Given the description of an element on the screen output the (x, y) to click on. 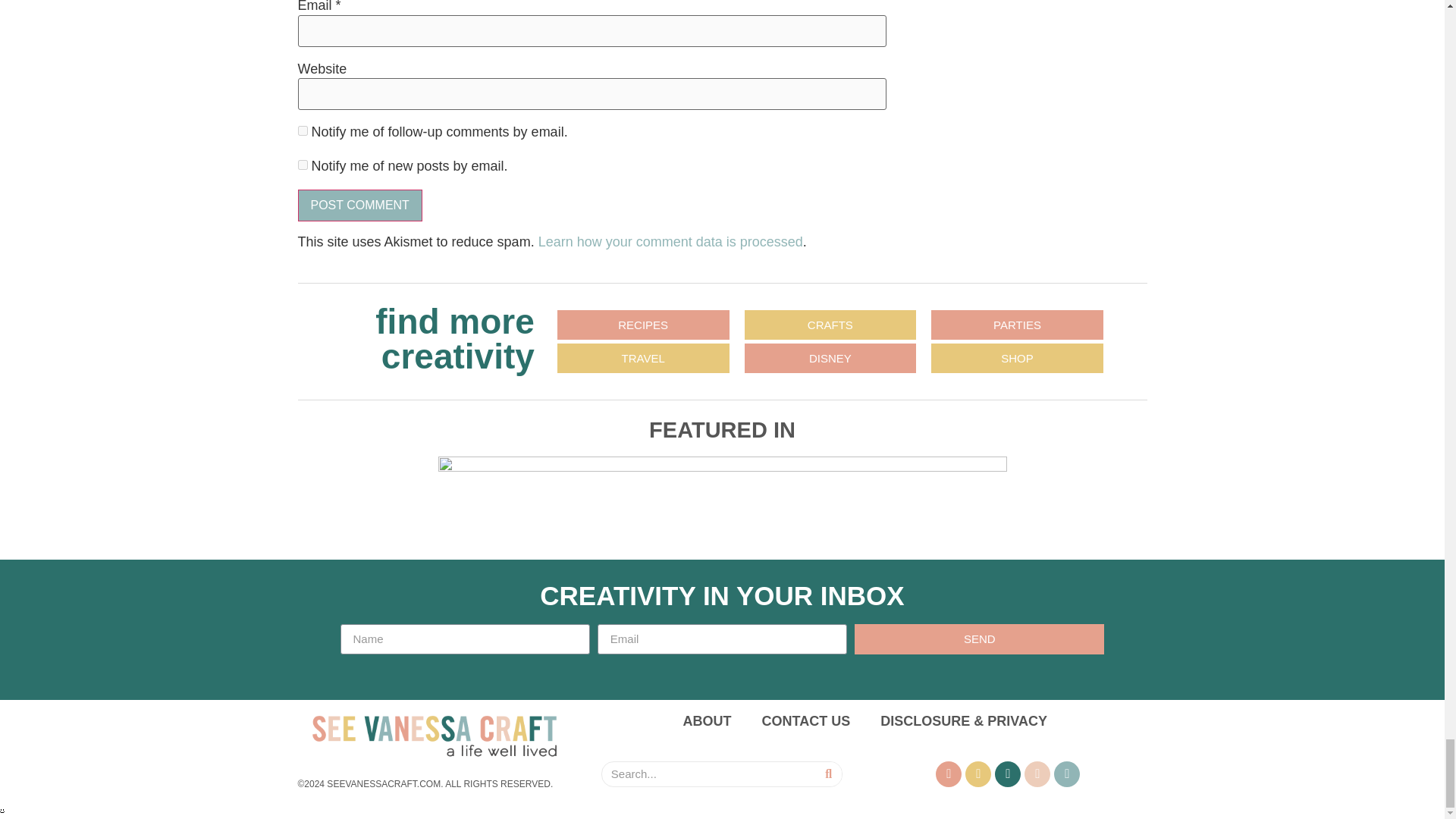
Search (828, 774)
Post Comment (359, 205)
subscribe (302, 130)
subscribe (302, 164)
Search (708, 774)
